Given the description of an element on the screen output the (x, y) to click on. 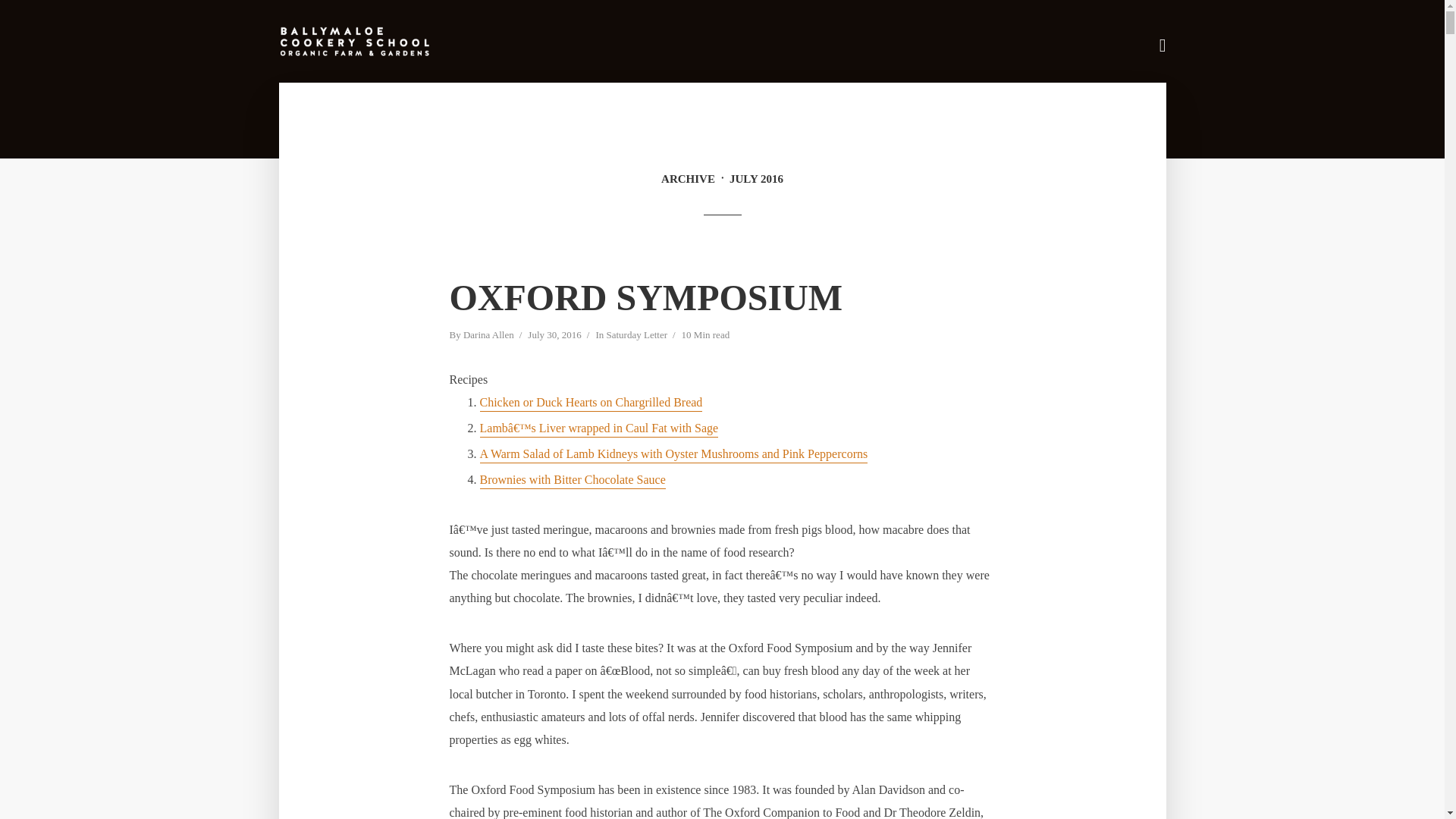
Darina Allen (488, 336)
OXFORD SYMPOSIUM (645, 297)
Brownies with Bitter Chocolate Sauce (572, 480)
Saturday Letter (635, 336)
Chicken or Duck Hearts on Chargrilled Bread (590, 403)
